Given the description of an element on the screen output the (x, y) to click on. 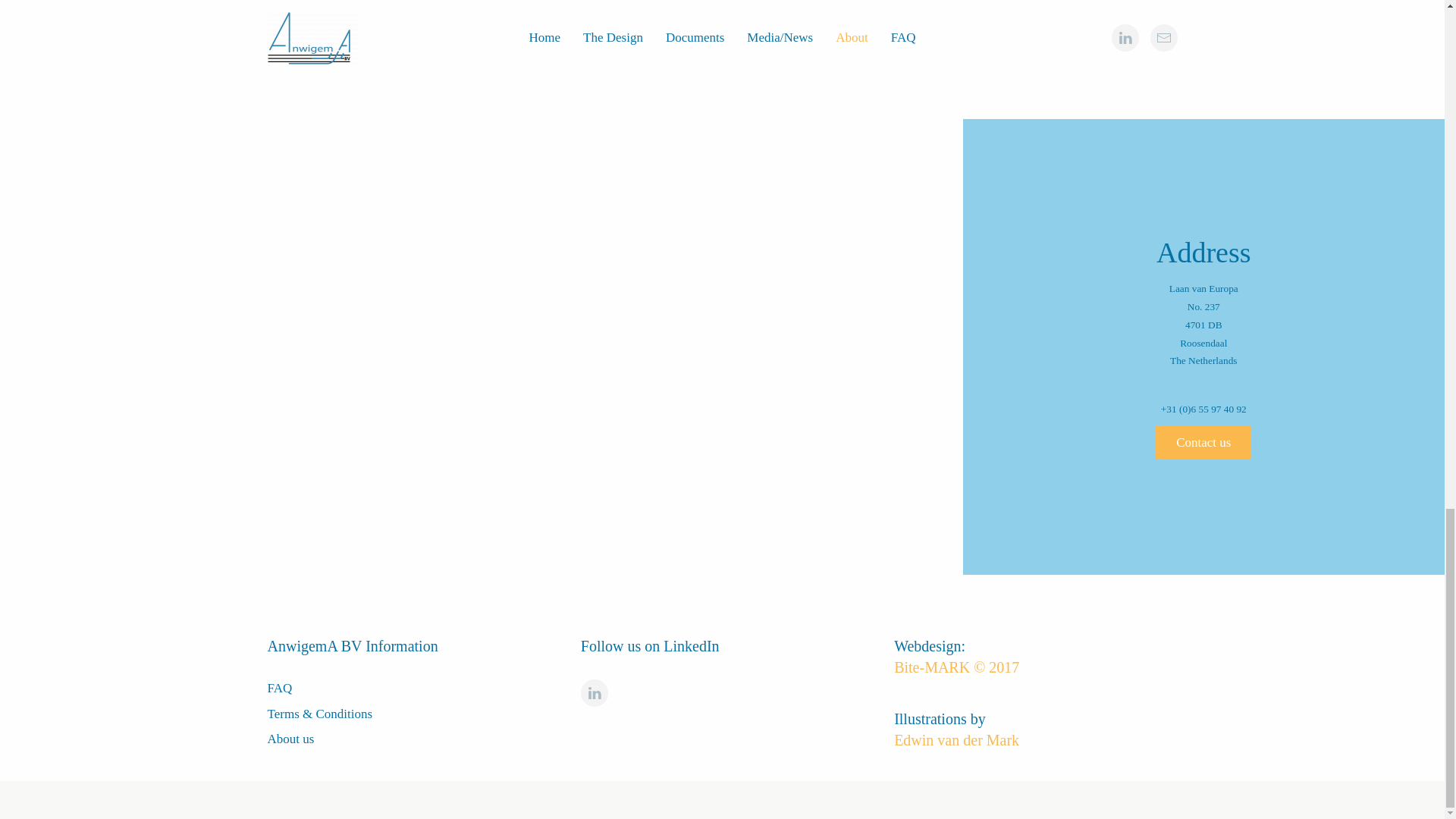
FAQ (279, 687)
Contact us (1203, 442)
About us (290, 739)
Edwin van der Mark (956, 740)
